Given the description of an element on the screen output the (x, y) to click on. 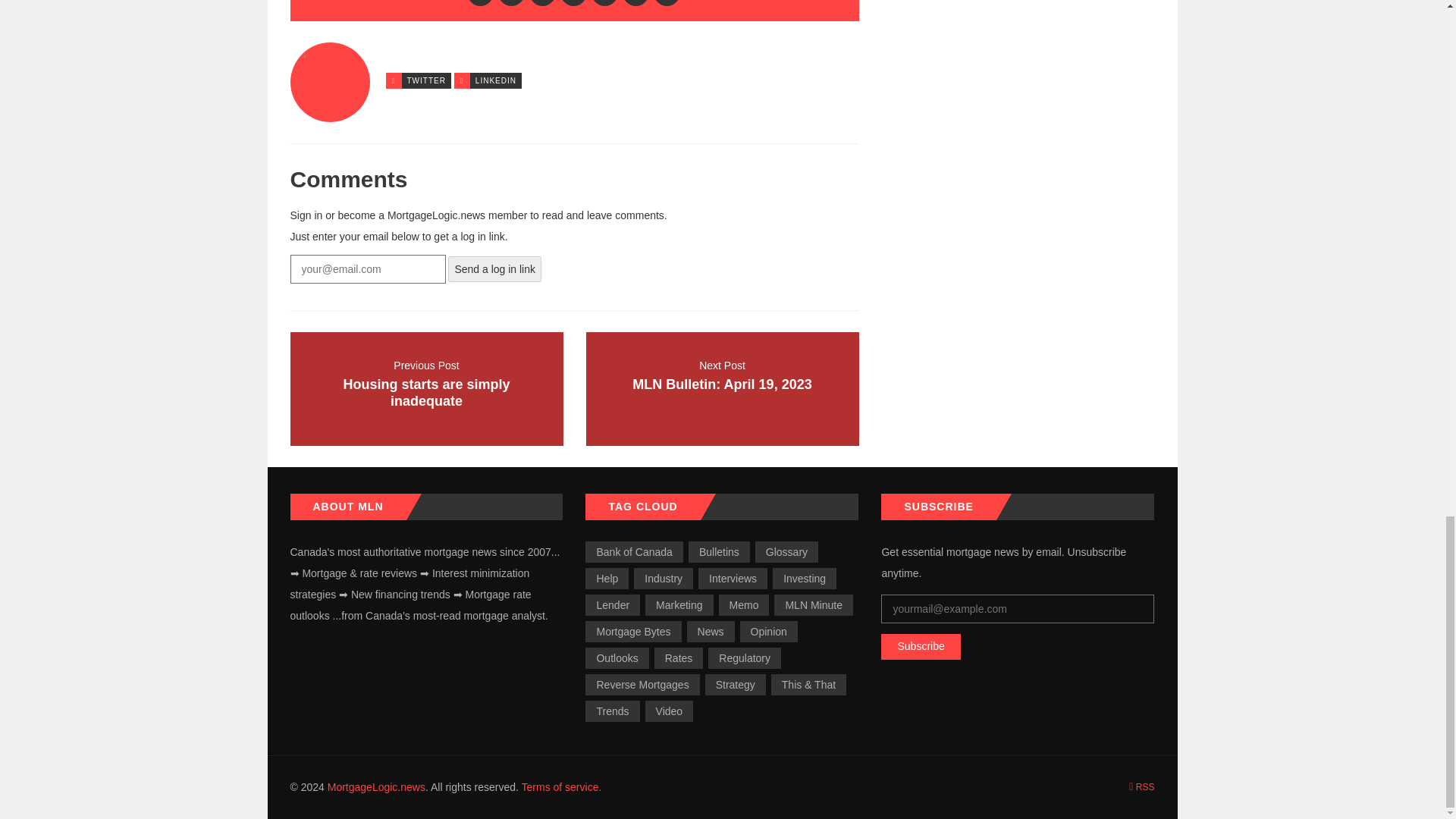
LINKEDIN (496, 80)
Send a log in link (494, 268)
TWITTER (722, 388)
